Given the description of an element on the screen output the (x, y) to click on. 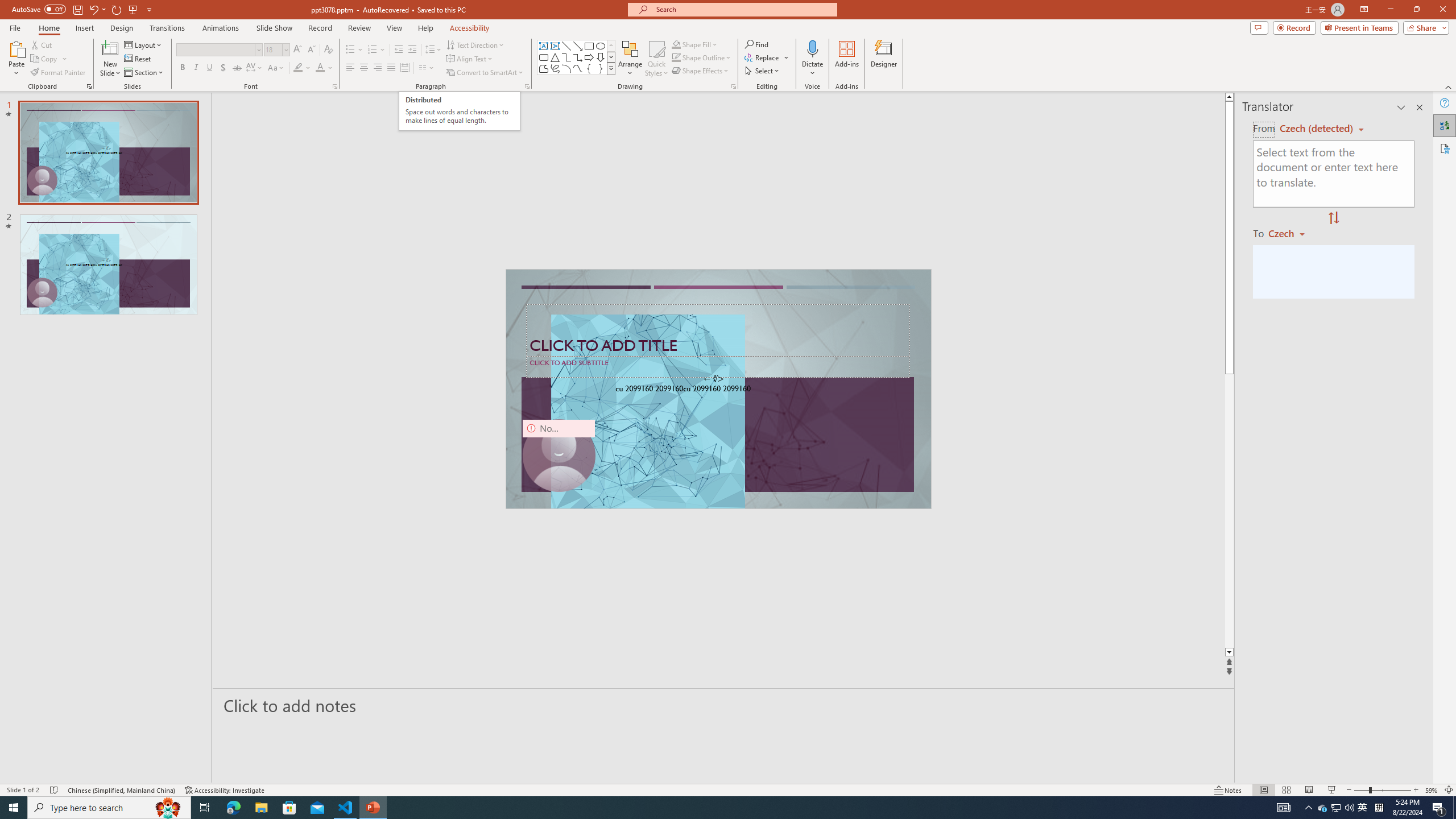
Shape Outline Green, Accent 1 (675, 56)
Czech (1291, 232)
